Given the description of an element on the screen output the (x, y) to click on. 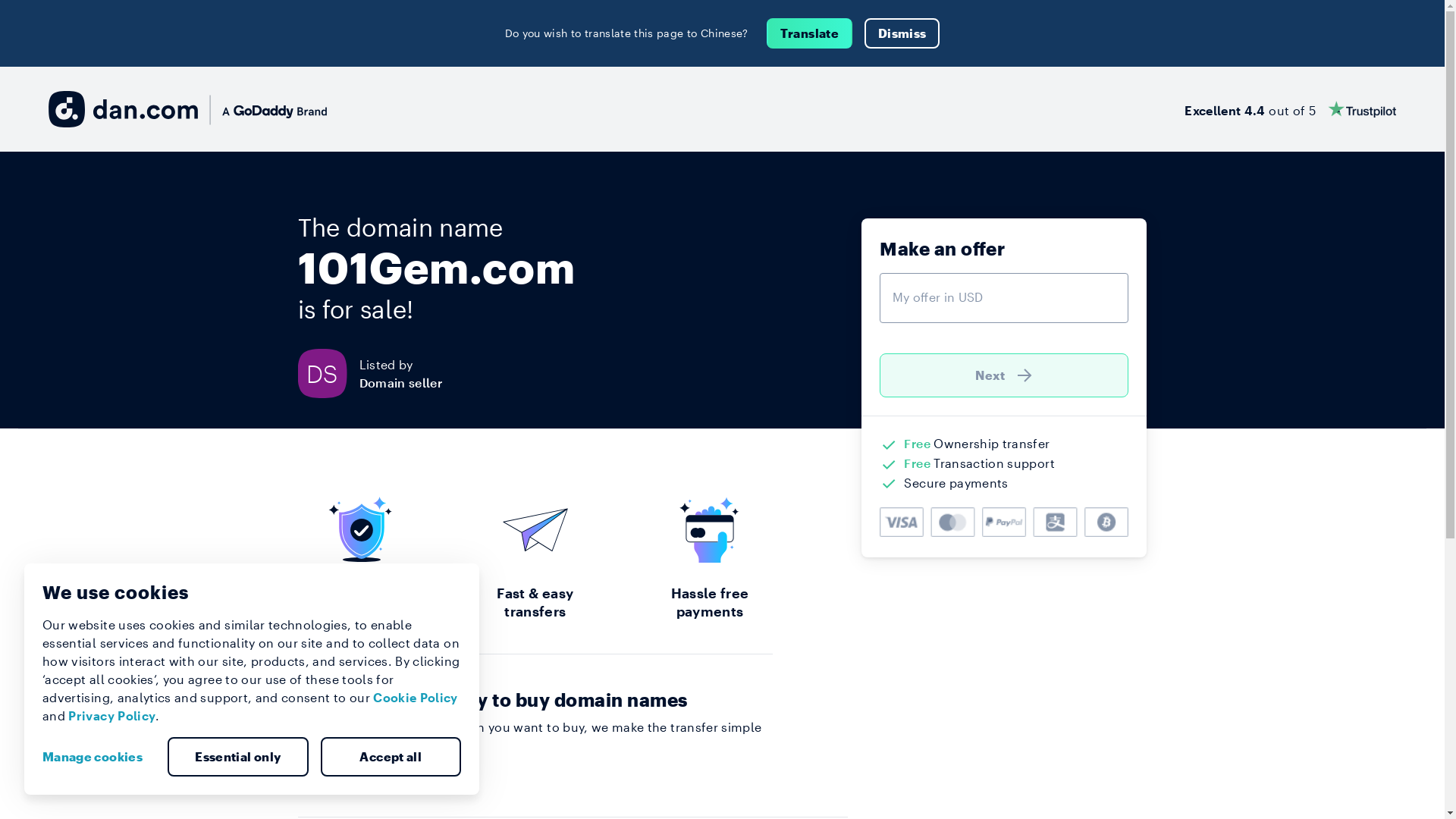
Dismiss Element type: text (901, 33)
DS Element type: text (327, 373)
Accept all Element type: text (390, 756)
Next
) Element type: text (1003, 375)
Cookie Policy Element type: text (415, 697)
Manage cookies Element type: text (98, 756)
Excellent 4.4 out of 5 Element type: text (1290, 109)
Privacy Policy Element type: text (111, 715)
Essential only Element type: text (237, 756)
Translate Element type: text (809, 33)
